Given the description of an element on the screen output the (x, y) to click on. 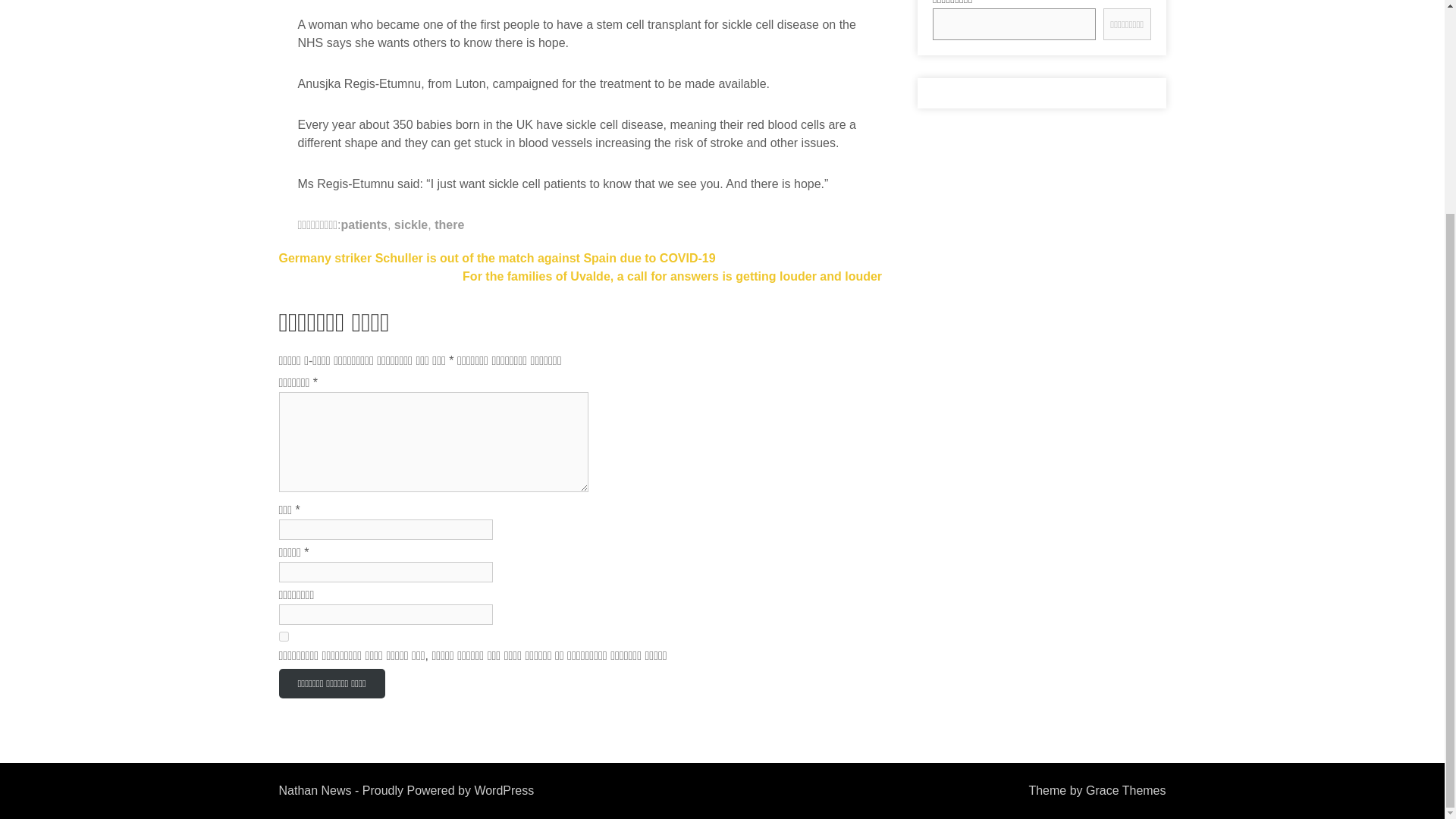
there (448, 224)
yes (283, 636)
patients (363, 224)
sickle (411, 224)
